Given the description of an element on the screen output the (x, y) to click on. 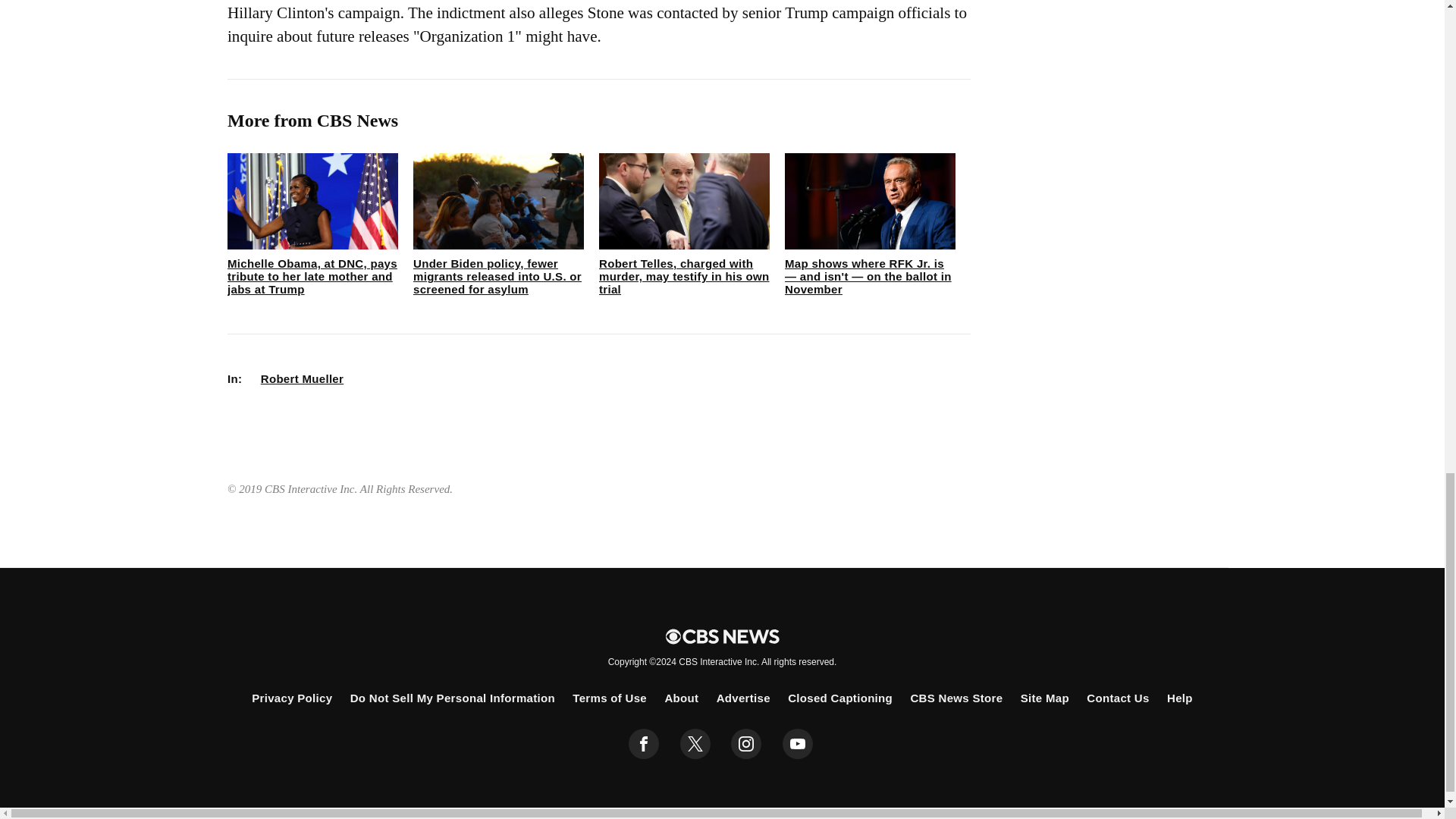
twitter (694, 743)
facebook (643, 743)
youtube (797, 743)
instagram (745, 743)
